Given the description of an element on the screen output the (x, y) to click on. 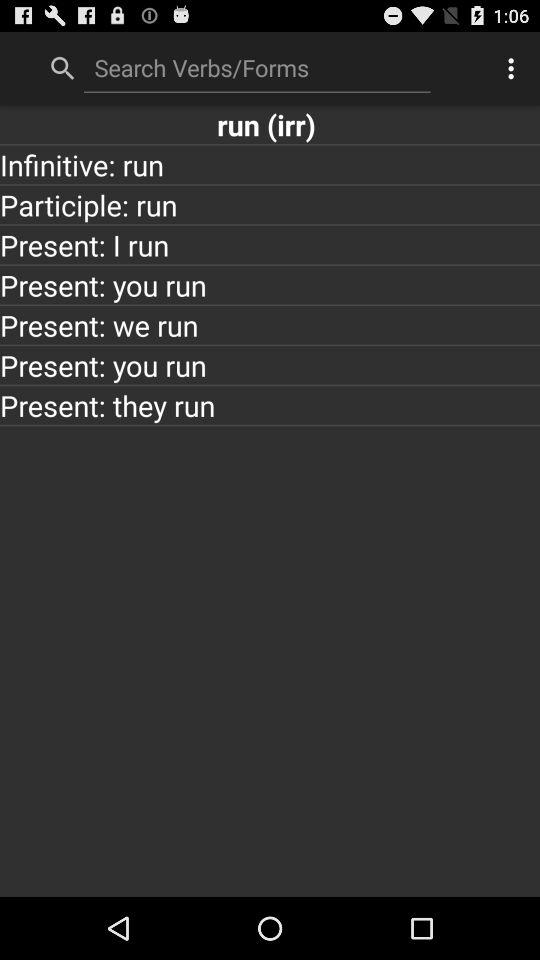
flip to the participle: run icon (270, 204)
